Given the description of an element on the screen output the (x, y) to click on. 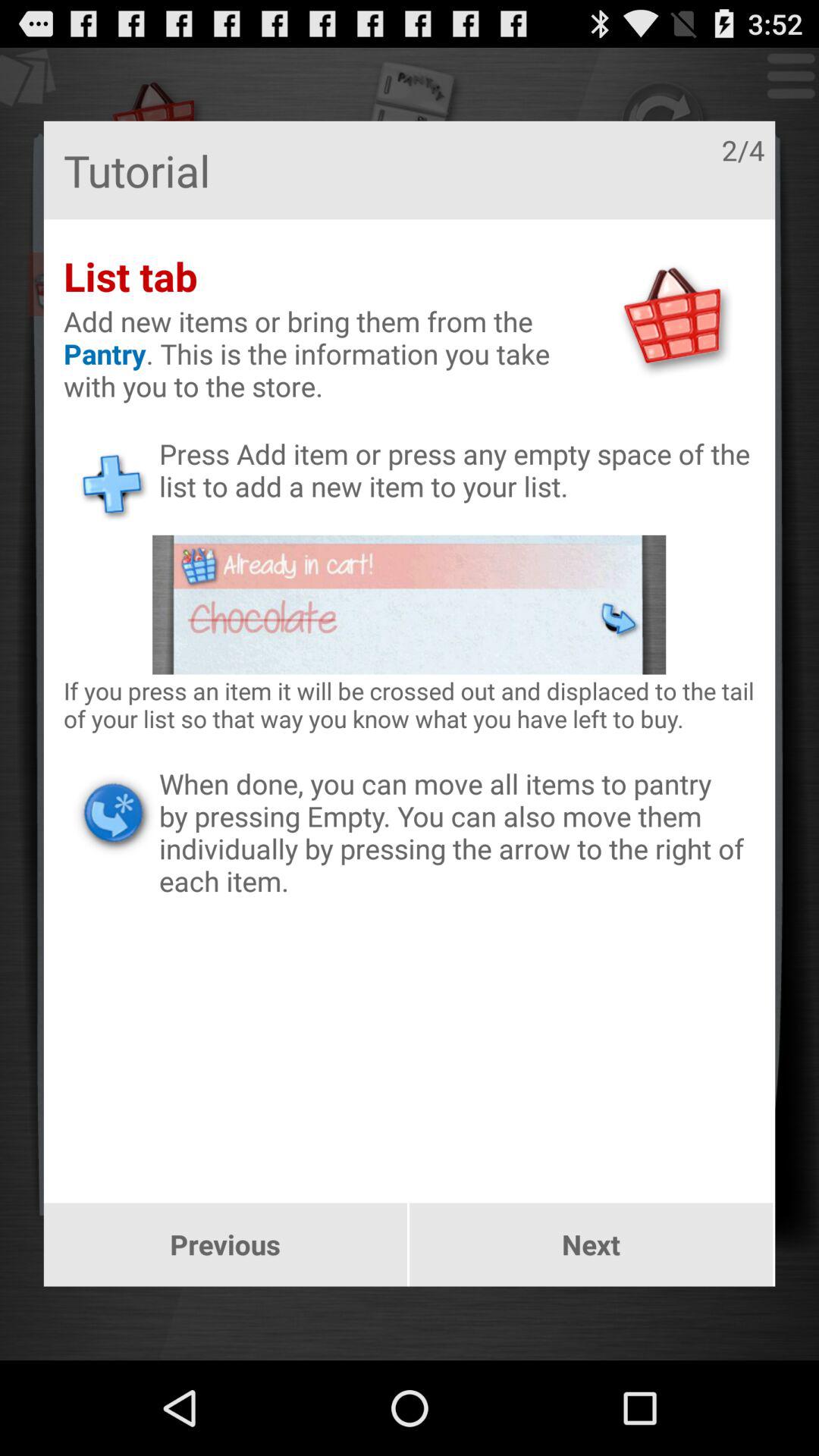
press the button to the left of next item (225, 1244)
